Given the description of an element on the screen output the (x, y) to click on. 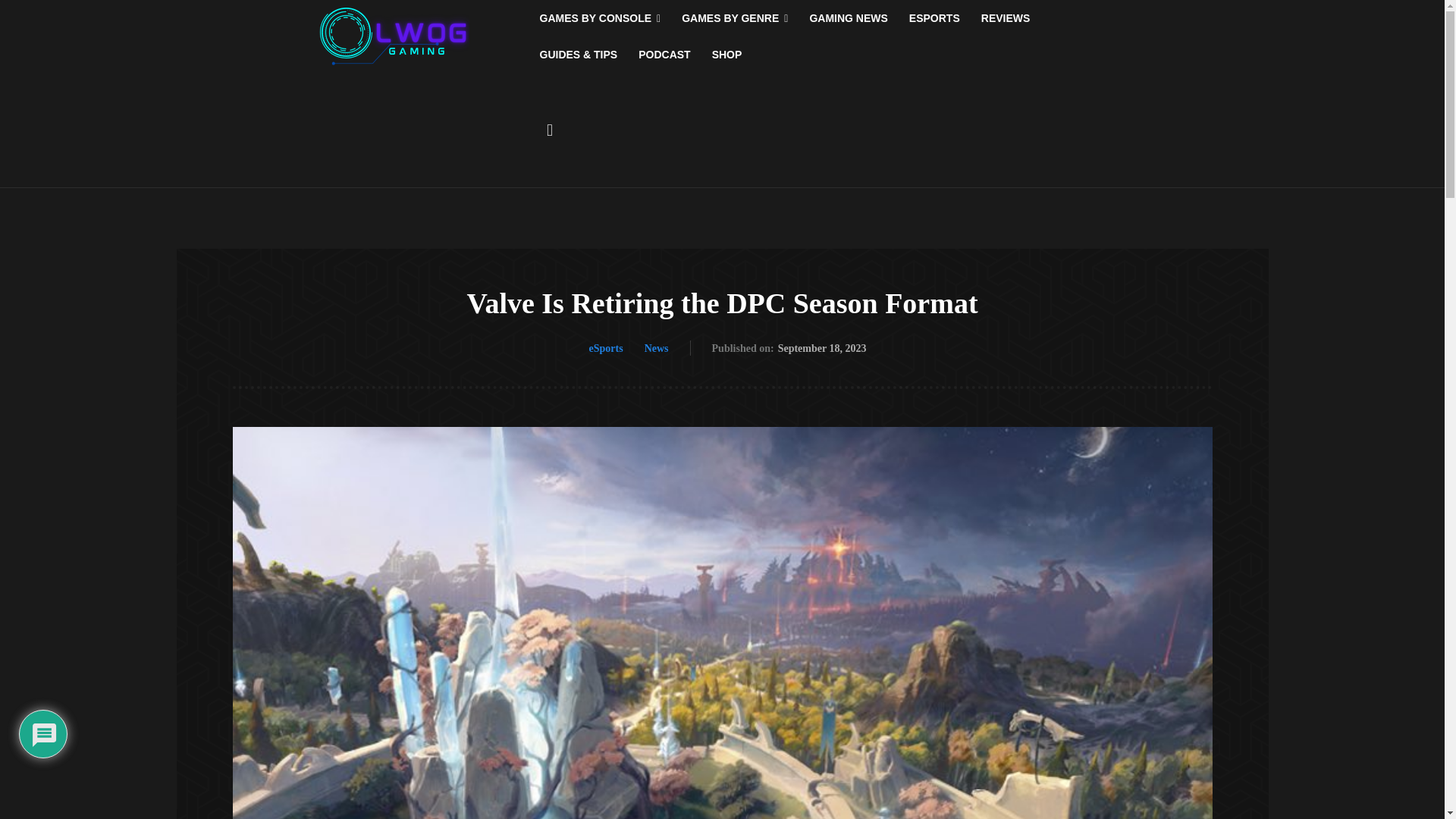
REVIEWS (1006, 18)
PODCAST (663, 54)
GAMES BY GENRE (734, 18)
GAMES BY CONSOLE (600, 18)
eSports (606, 348)
SHOP (726, 54)
GAMING NEWS (847, 18)
ESPORTS (934, 18)
News (656, 348)
